Given the description of an element on the screen output the (x, y) to click on. 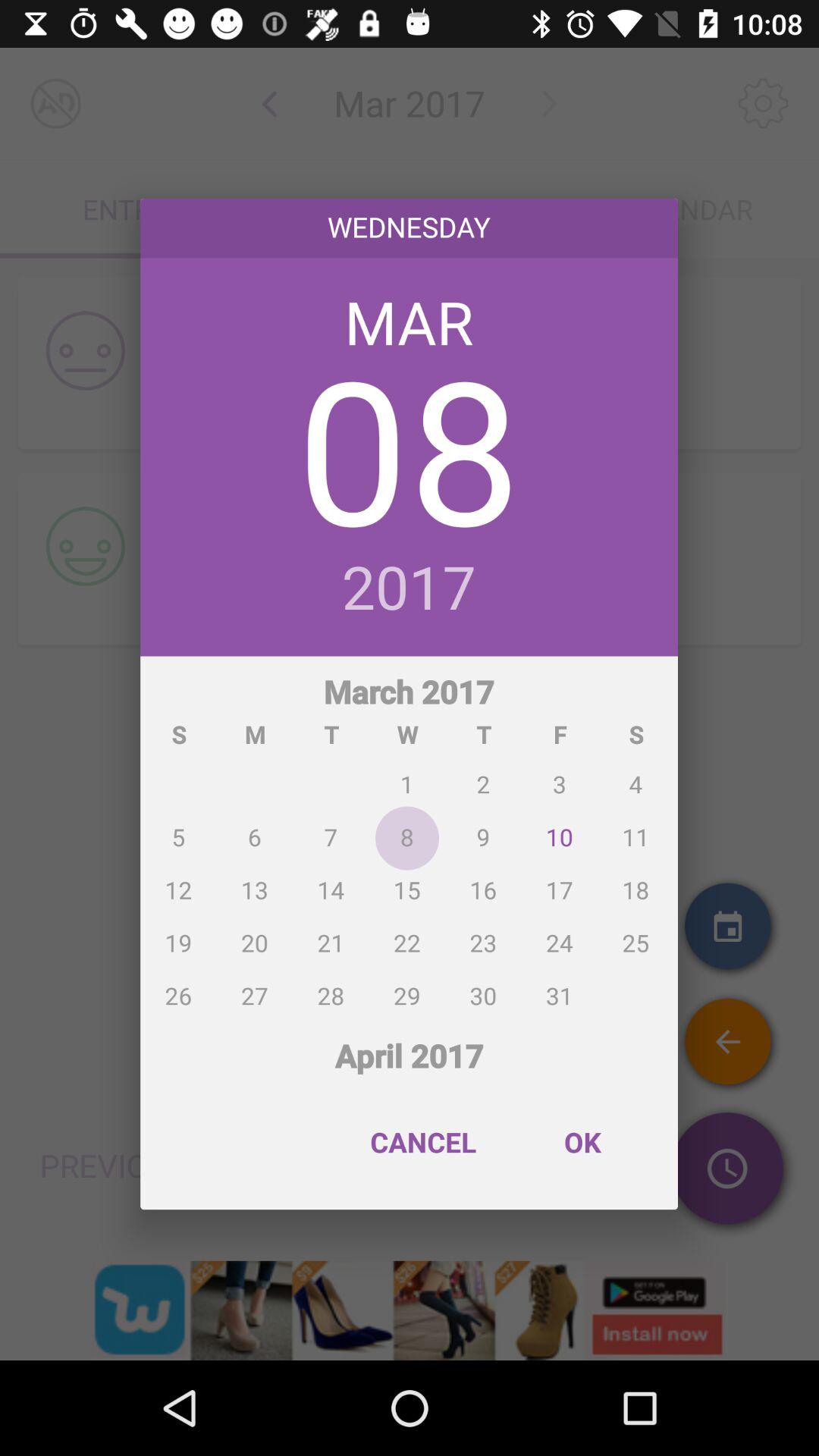
press the cancel item (422, 1141)
